Given the description of an element on the screen output the (x, y) to click on. 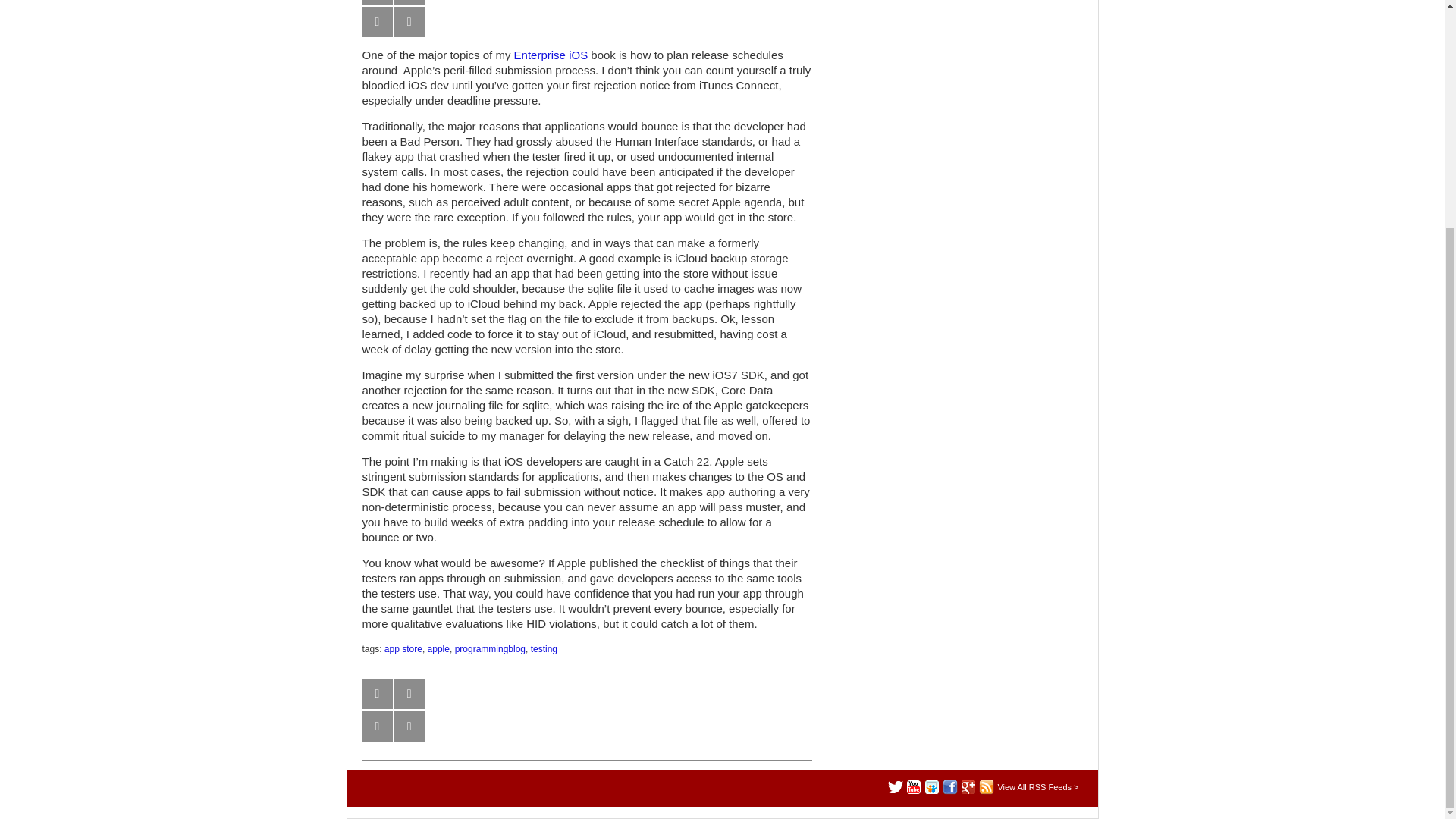
apple Tag (438, 648)
app store Tag (403, 648)
Enterprise iOS (550, 54)
programmingblog Tag (489, 648)
testing Tag (544, 648)
Developing Enterprise iOS Applications (550, 54)
